Given the description of an element on the screen output the (x, y) to click on. 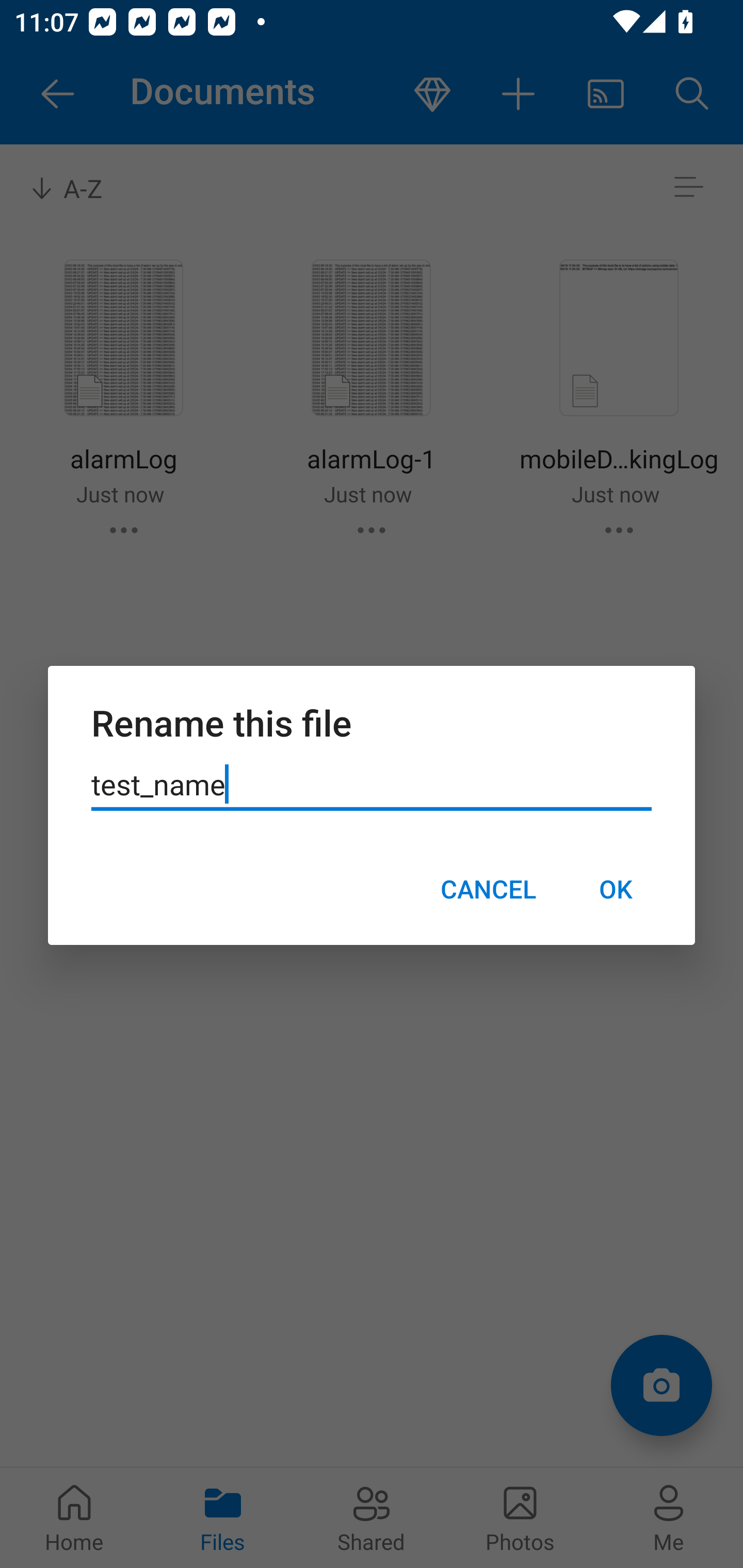
test_name (371, 784)
CANCEL (488, 888)
OK (615, 888)
